Given the description of an element on the screen output the (x, y) to click on. 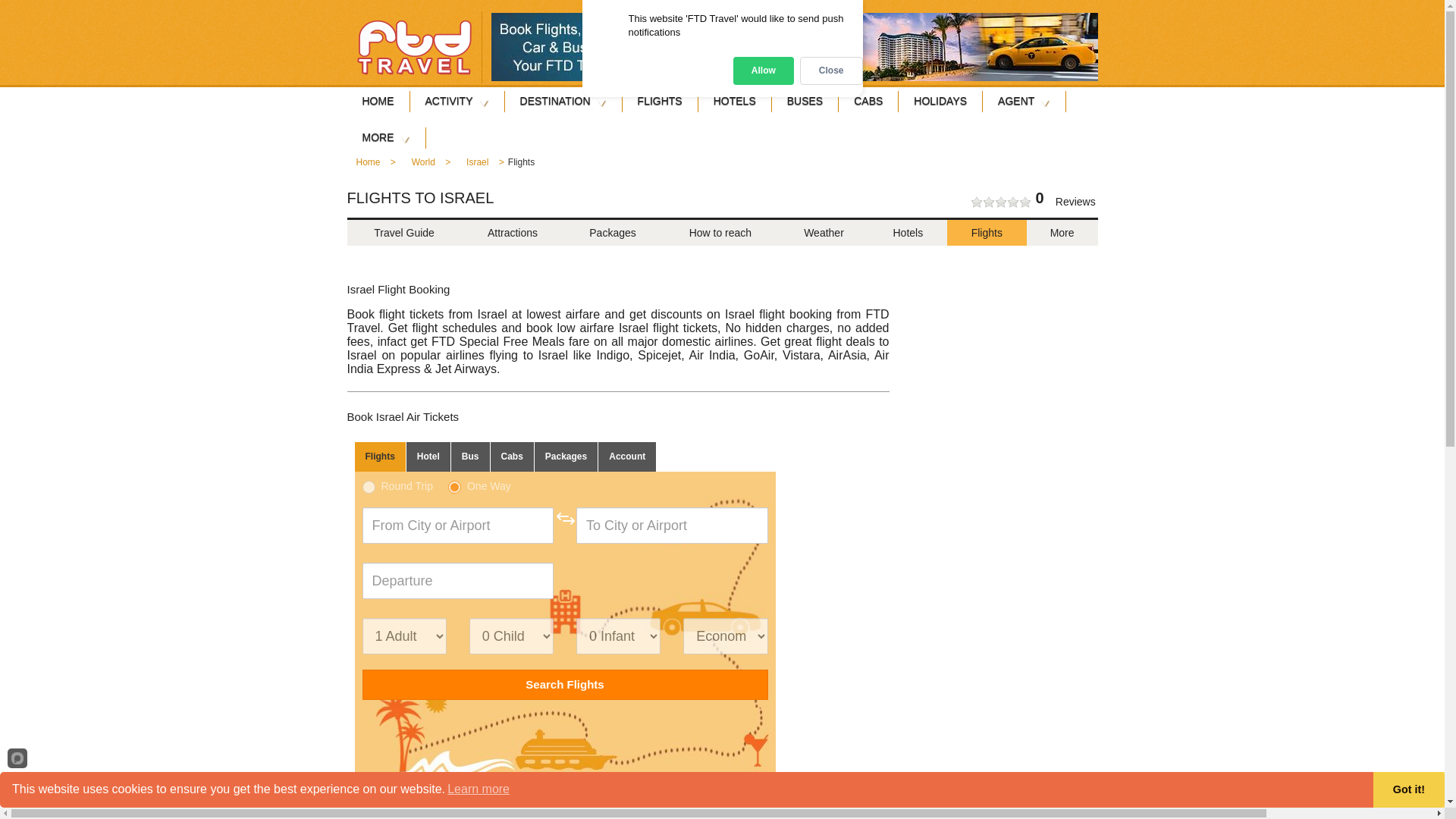
ACTIVITY (456, 101)
HOTELS (734, 101)
World (423, 166)
Home (367, 166)
DESTINATION (563, 101)
Advertisement (1017, 362)
FLIGHTS (659, 101)
BUSES (804, 101)
CABS (867, 101)
AGENT (1023, 101)
India World Travel Tourism Guide - FTD Travel (414, 47)
HOLIDAYS (940, 101)
Israel (477, 166)
Rating (1000, 202)
HOME (378, 101)
